Given the description of an element on the screen output the (x, y) to click on. 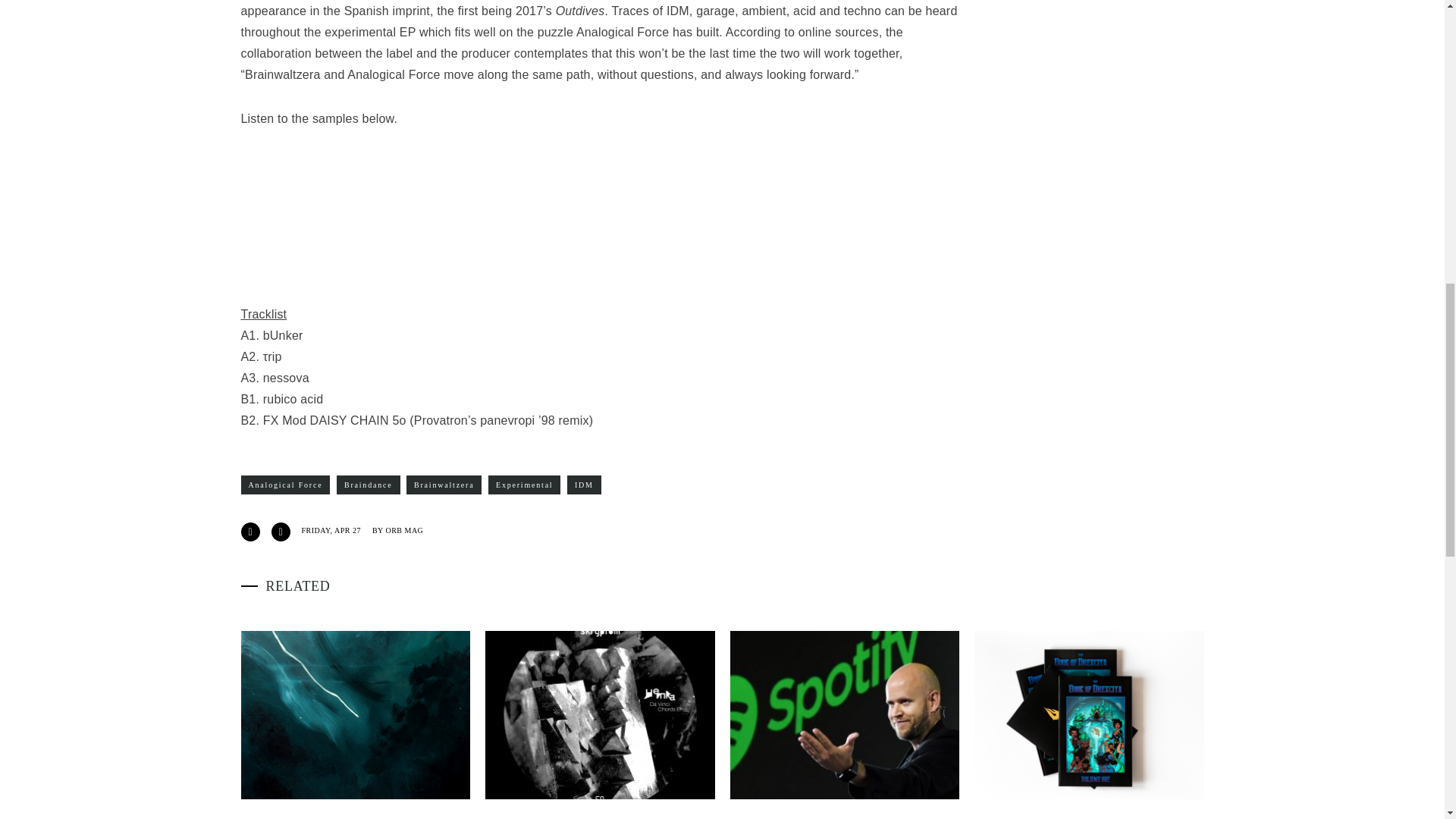
Experimental (523, 484)
IDM (584, 484)
Braindance (368, 484)
Brainwaltzera (443, 484)
Analogical Force (285, 484)
